Given the description of an element on the screen output the (x, y) to click on. 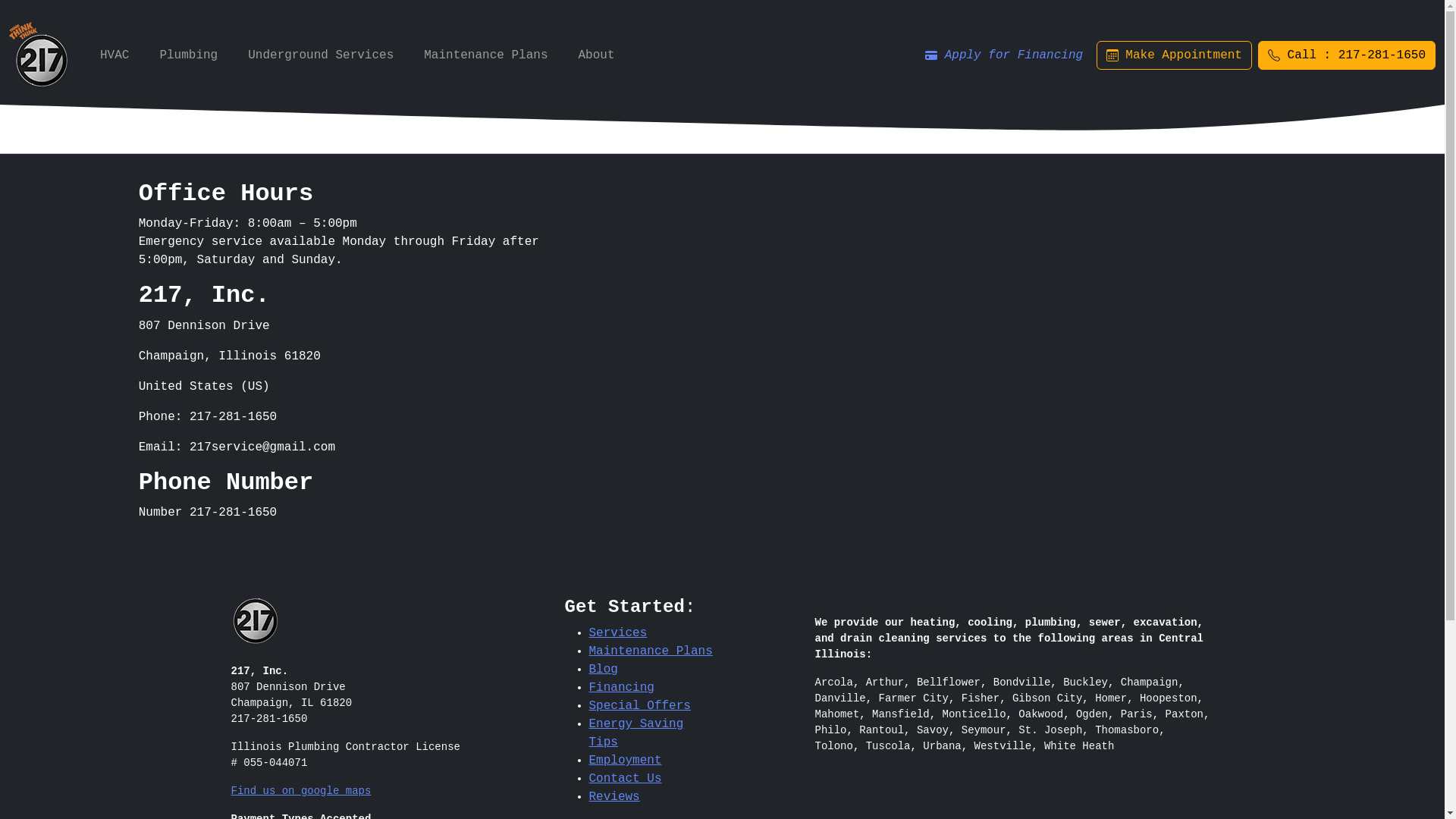
Maintenance Plans Element type: text (485, 55)
Special Offers Element type: text (639, 705)
Underground Services Element type: text (320, 55)
Financing Element type: text (620, 687)
About Element type: text (595, 55)
Call : 217-281-1650 Element type: text (1346, 54)
Contact Us Element type: text (624, 778)
Services Element type: text (617, 633)
Reviews Element type: text (613, 796)
Plumbing Element type: text (188, 55)
Energy Saving Tips Element type: text (635, 733)
Employment Element type: text (624, 760)
HVAC Element type: text (114, 55)
Apply for Financing Element type: text (1003, 55)
Make Appointment Element type: text (1174, 54)
Find us on google maps Element type: text (300, 790)
Maintenance Plans Element type: text (650, 651)
Blog Element type: text (602, 669)
